Given the description of an element on the screen output the (x, y) to click on. 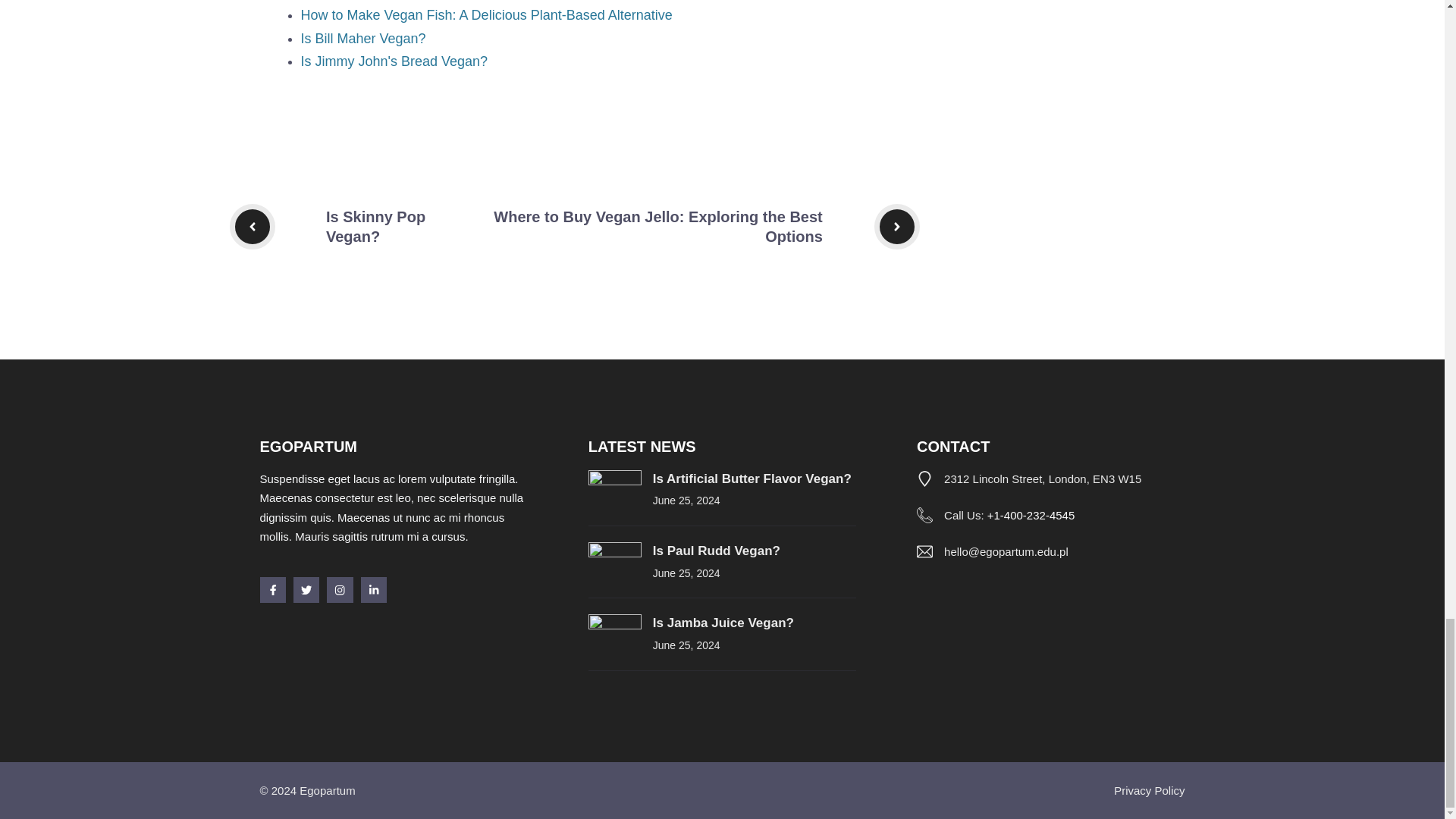
Is Bill Maher Vegan? (362, 38)
Is Skinny Pop Vegan? (375, 226)
Where to Buy Vegan Jello: Exploring the Best Options (657, 226)
Is Jimmy John's Bread Vegan? (393, 61)
How to Make Vegan Fish: A Delicious Plant-Based Alternative (485, 14)
